Given the description of an element on the screen output the (x, y) to click on. 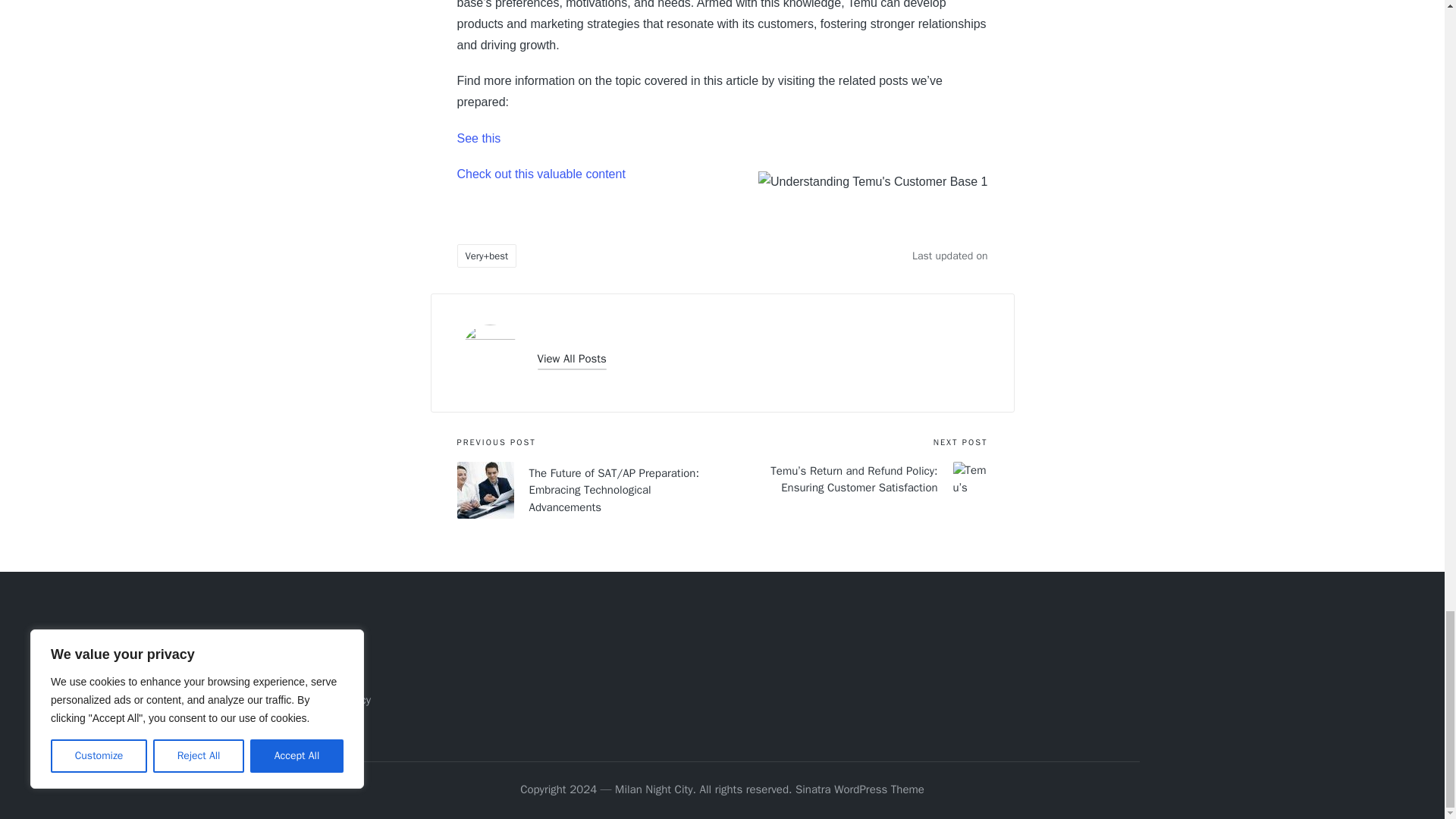
About (318, 650)
View All Posts (571, 358)
See this (478, 137)
Privacy Policy (337, 699)
Sinatra WordPress Theme (859, 790)
Check out this valuable content (540, 173)
Contact (323, 674)
